Given the description of an element on the screen output the (x, y) to click on. 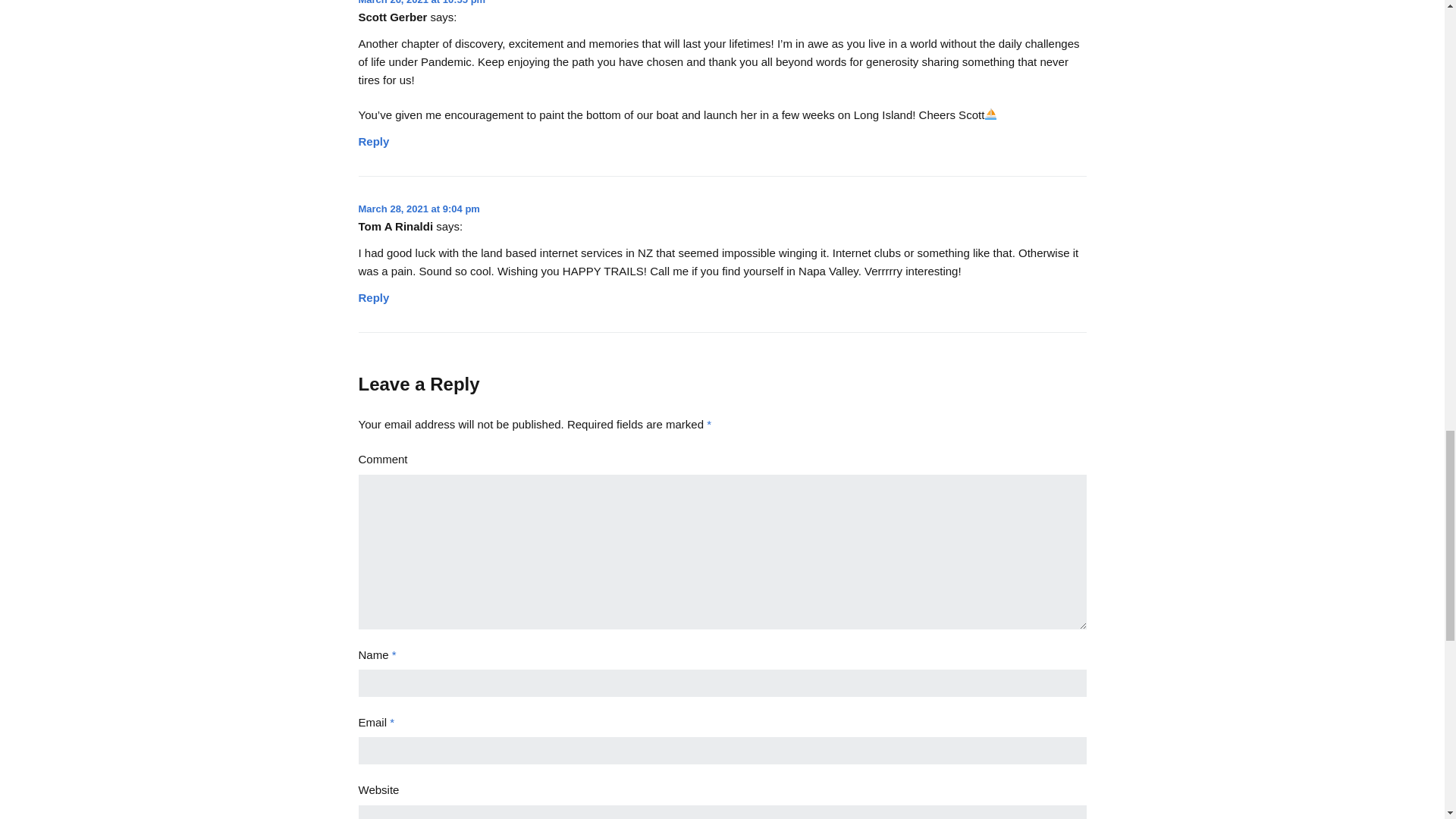
Reply (373, 292)
March 28, 2021 at 9:04 pm (418, 208)
Reply (373, 137)
March 26, 2021 at 10:55 pm (421, 2)
